Given the description of an element on the screen output the (x, y) to click on. 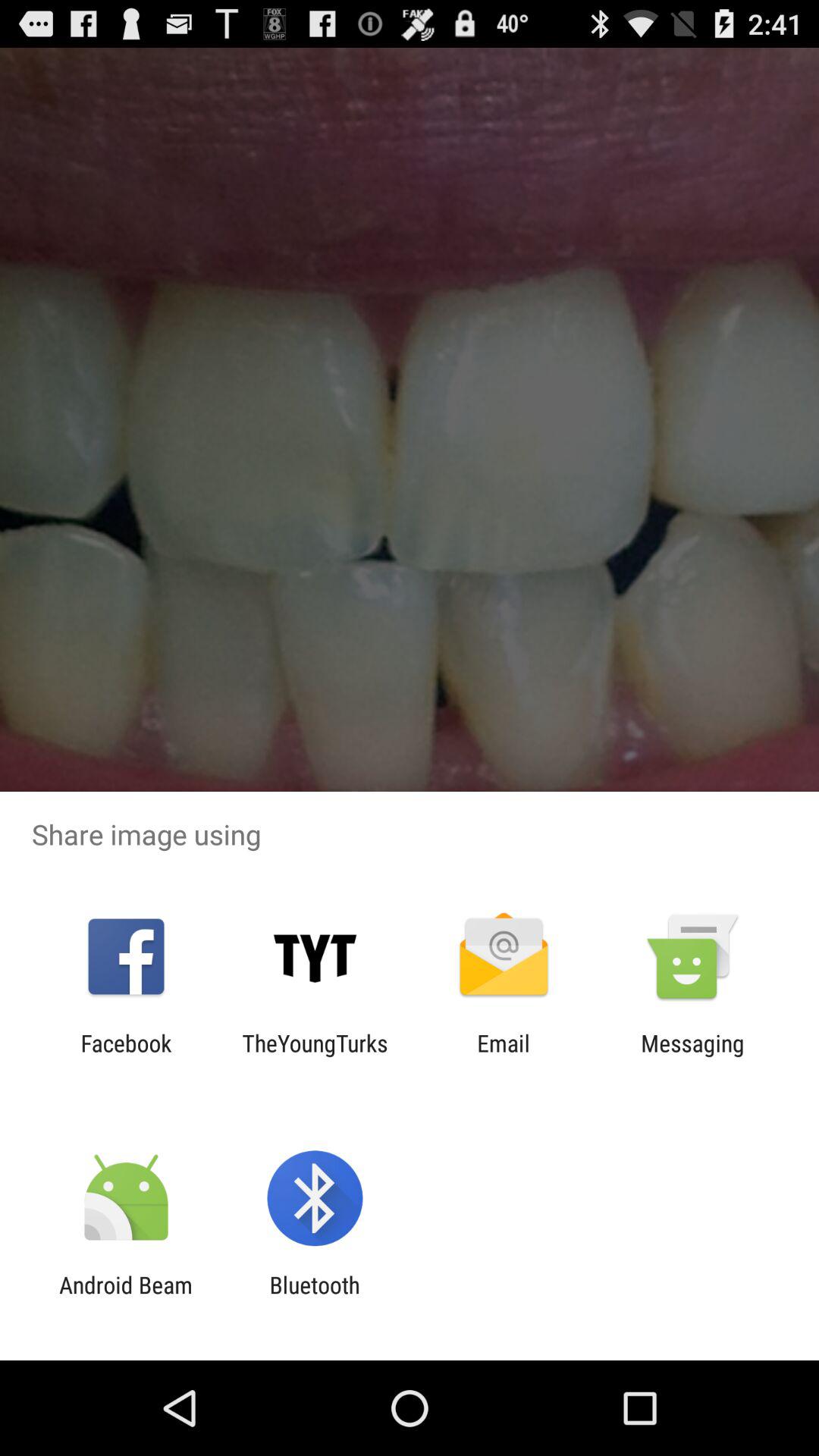
tap the messaging item (692, 1056)
